Given the description of an element on the screen output the (x, y) to click on. 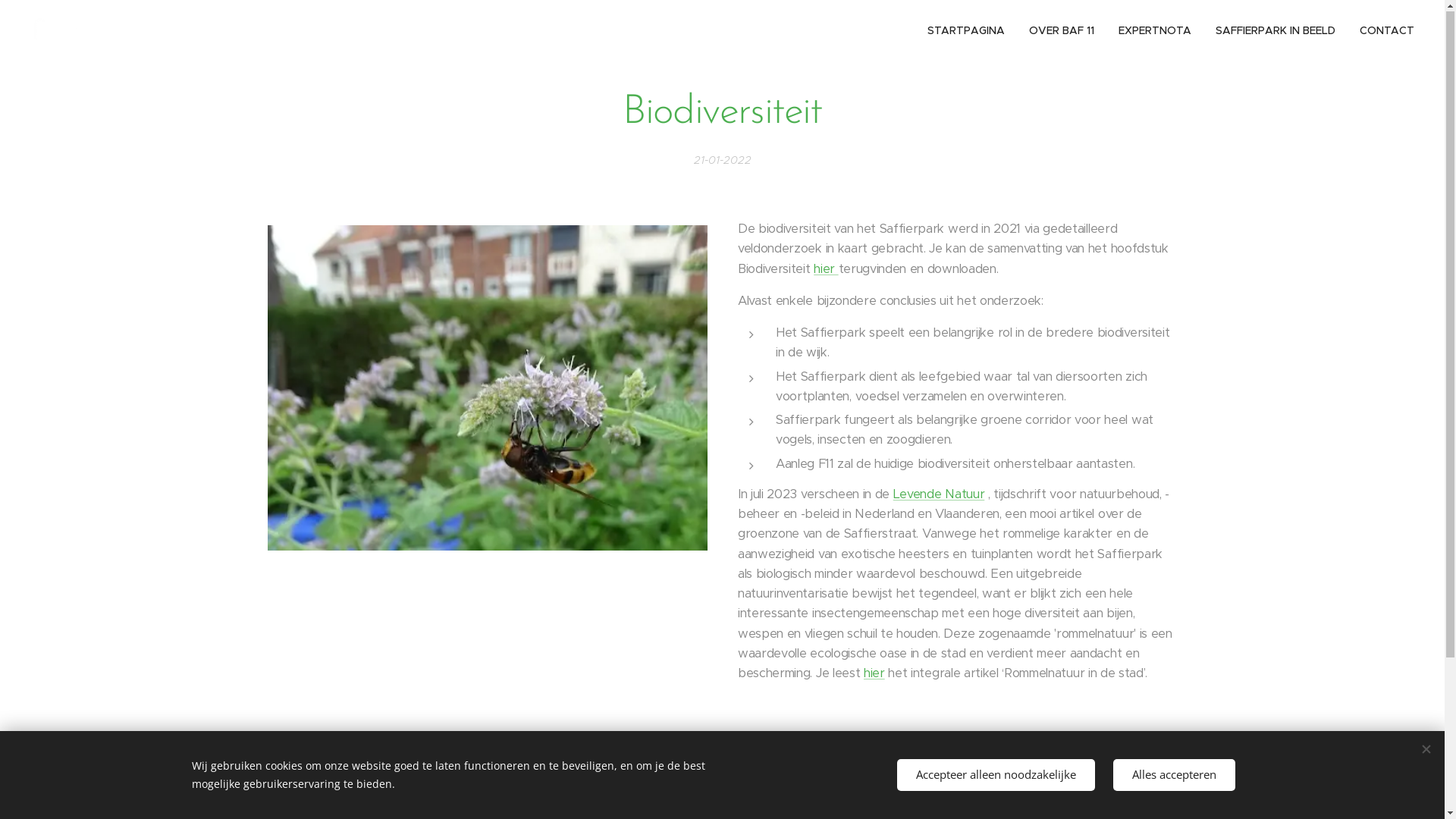
STARTPAGINA Element type: text (969, 31)
hier Element type: text (873, 673)
Accepteer alleen noodzakelijke Element type: text (995, 774)
OVER BAF 11 Element type: text (1061, 31)
SAFFIERPARK IN BEELD Element type: text (1275, 31)
EXPERTNOTA Element type: text (1154, 31)
onze nieuwsbrief Element type: text (876, 738)
CONTACT Element type: text (1380, 31)
Alles accepteren Element type: text (1174, 774)
hier Element type: text (825, 269)
Levende Natuur Element type: text (938, 494)
